Given the description of an element on the screen output the (x, y) to click on. 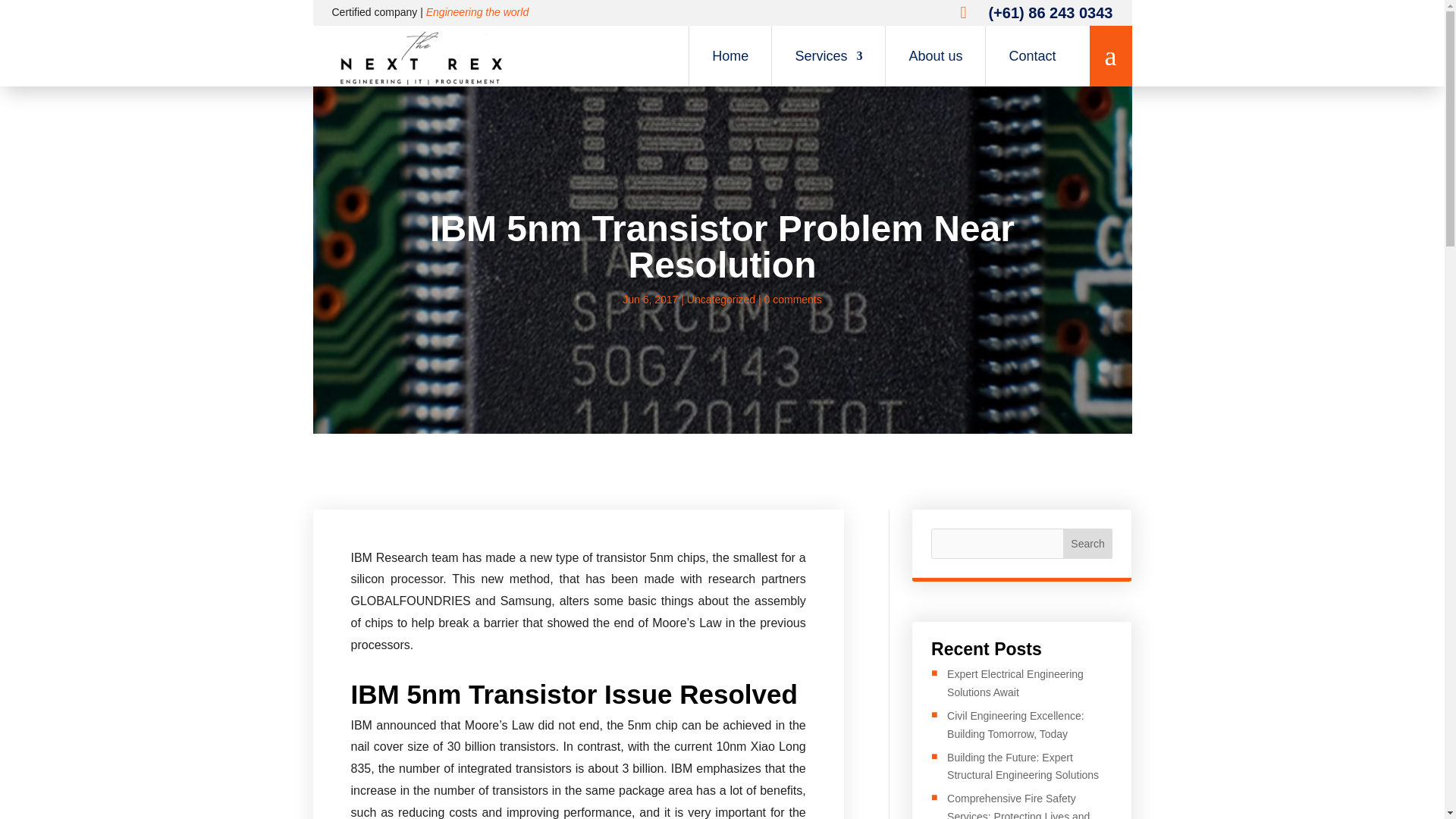
Civil Engineering Excellence: Building Tomorrow, Today (1015, 725)
Expert Electrical Engineering Solutions Await (1015, 683)
0 comments (793, 299)
About us (935, 56)
Uncategorized (721, 299)
Search (1087, 543)
Building the Future: Expert Structural Engineering Solutions (1023, 766)
Services (827, 56)
